Given the description of an element on the screen output the (x, y) to click on. 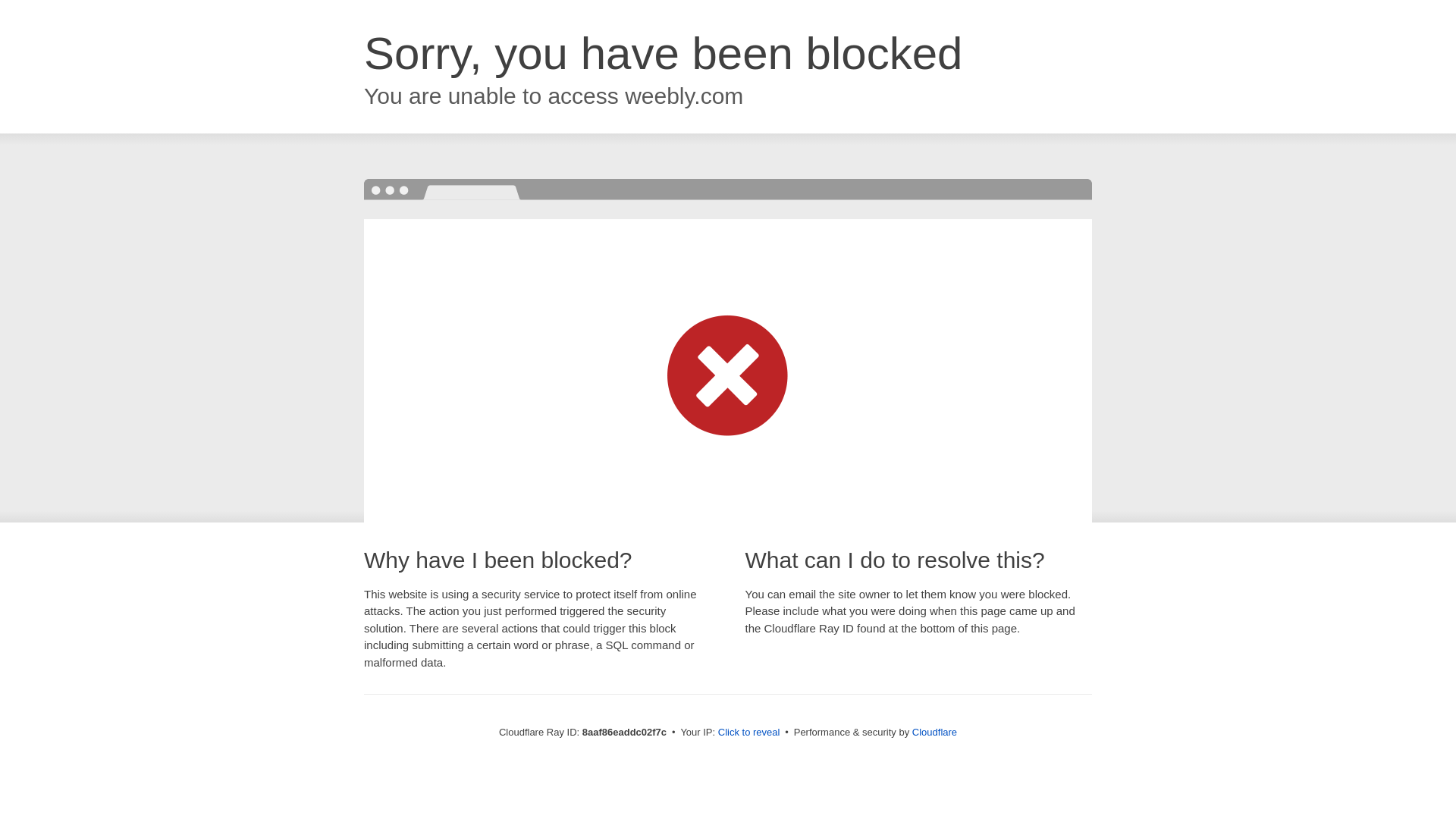
Cloudflare (934, 731)
Click to reveal (748, 732)
